Given the description of an element on the screen output the (x, y) to click on. 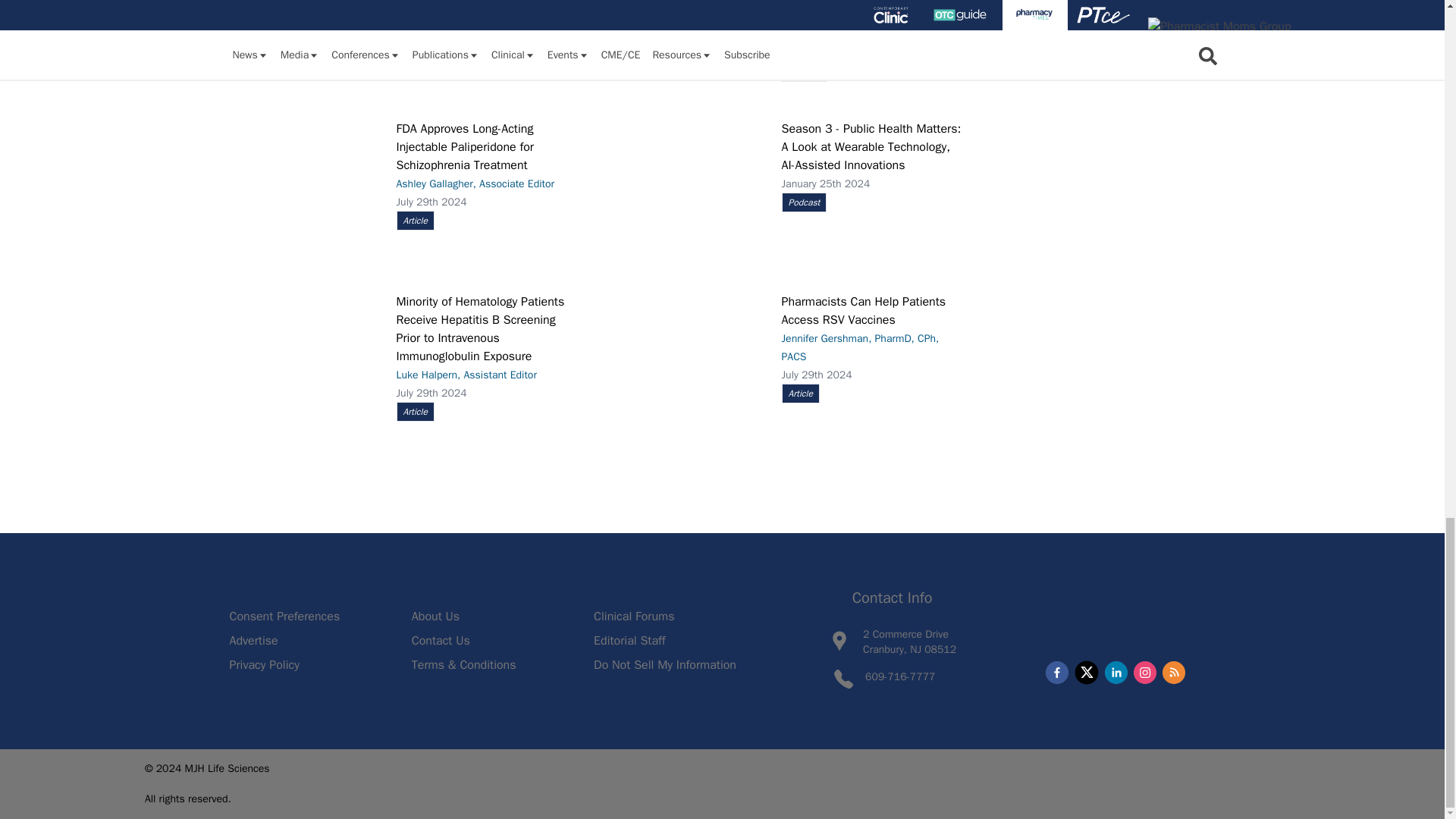
Pharmacy Focus: World Psychedelics Day (689, 42)
Five Fast Facts About IVIG  (304, 46)
